Given the description of an element on the screen output the (x, y) to click on. 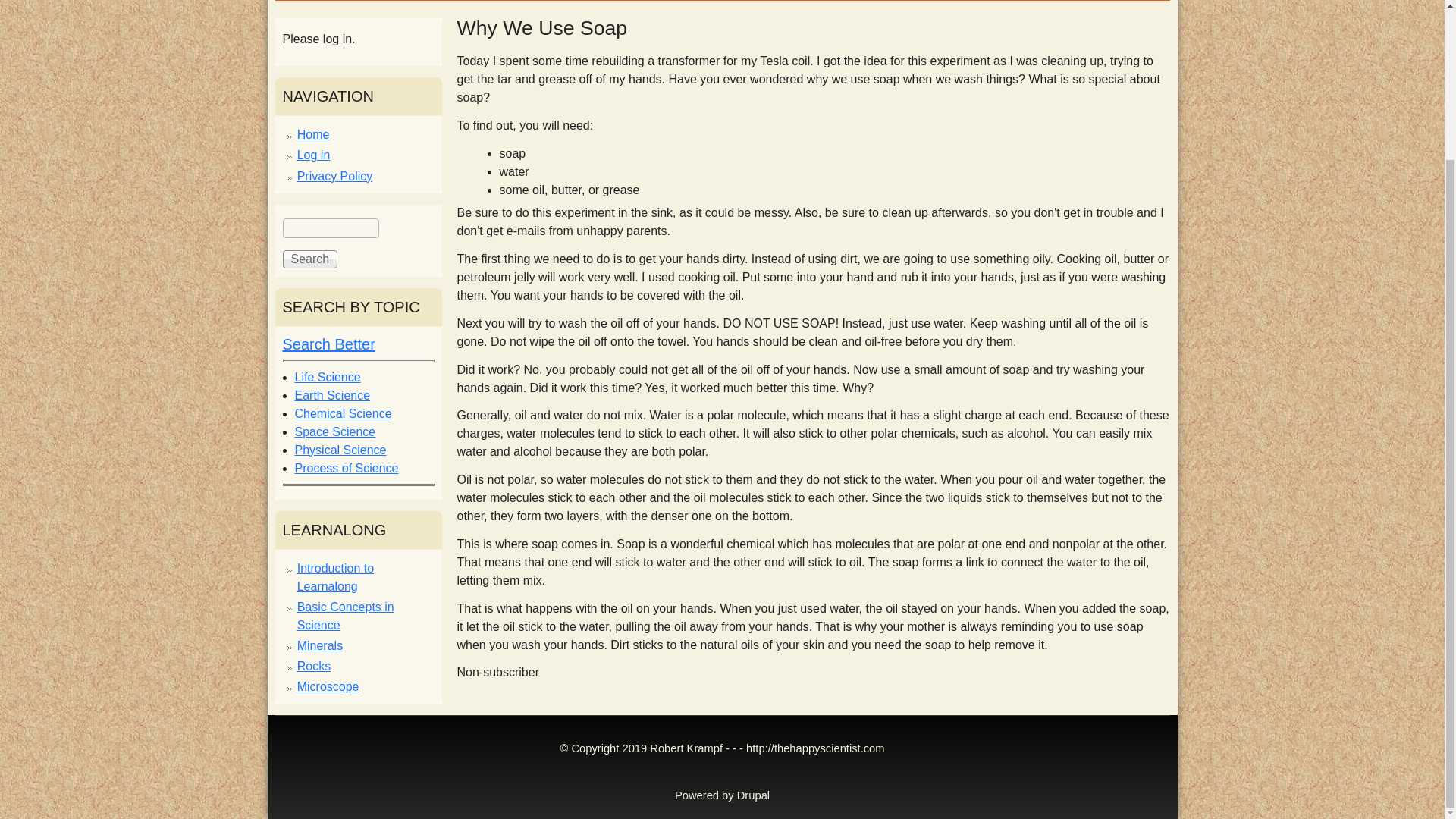
Basic Concepts in Science (345, 615)
Introduction to Learnalong (335, 576)
Search Better (328, 343)
Home (313, 133)
Life Science (326, 377)
Privacy Policy (334, 175)
Rocks (313, 666)
Earth Science (331, 395)
Privacy Policy for The Happy Scientist (334, 175)
Drupal (753, 795)
Space Science (334, 431)
Enter the terms you wish to search for. (330, 228)
Search (309, 259)
Microscope (328, 686)
Log in (313, 154)
